Given the description of an element on the screen output the (x, y) to click on. 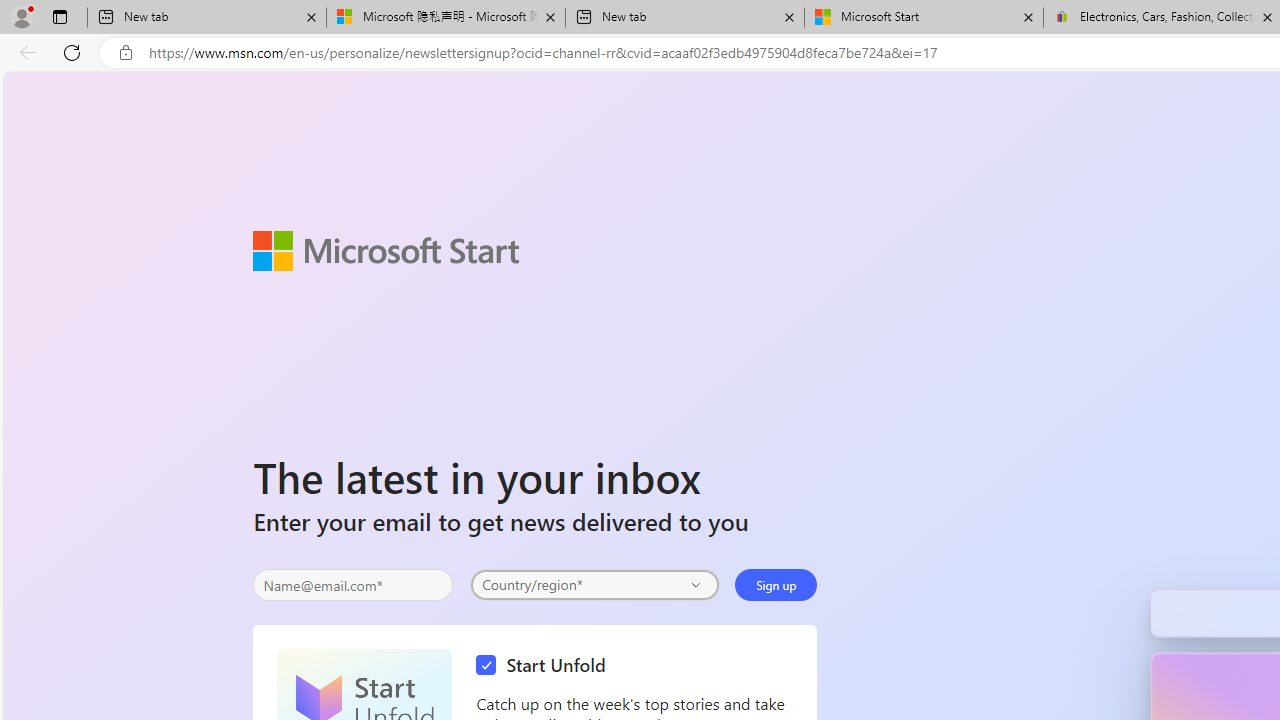
Enter your email (353, 585)
Select your country (594, 584)
Start Unfold (545, 665)
Sign up (775, 584)
